Given the description of an element on the screen output the (x, y) to click on. 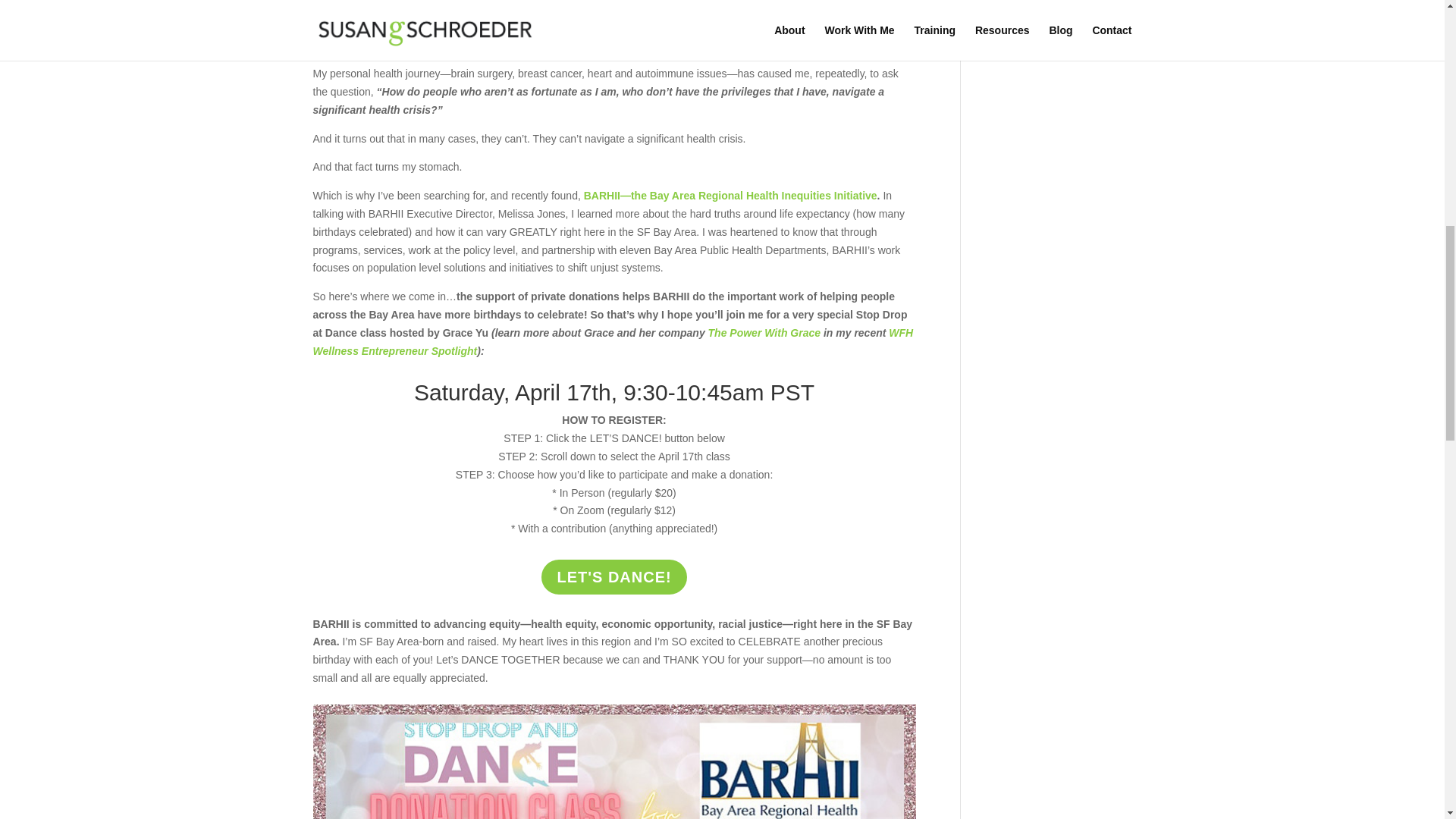
The Power With Grace (764, 332)
WFH Wellness Entrepreneur Spotlight (612, 341)
LET'S DANCE! (613, 576)
